Given the description of an element on the screen output the (x, y) to click on. 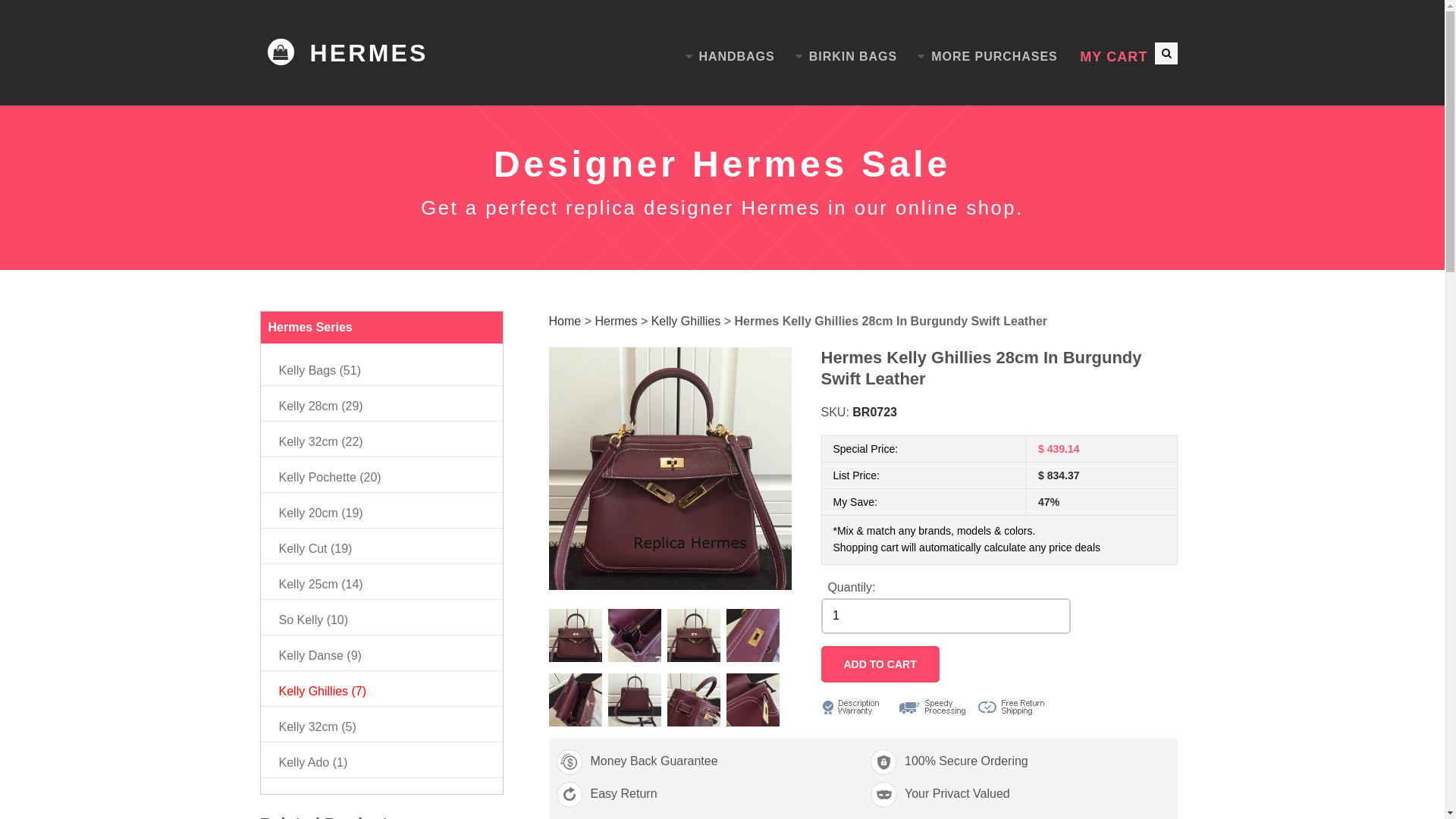
Kelly 25cm (14) Element type: text (321, 583)
ADD TO CART Element type: text (879, 664)
Kelly 20cm (19) Element type: text (321, 512)
So Kelly (10) Element type: text (313, 619)
Kelly Ado (1) Element type: text (313, 762)
Search Element type: text (1153, 50)
Kelly Ghillies (7) Element type: text (323, 690)
Kelly 28cm (29) Element type: text (321, 405)
Home Element type: text (565, 320)
Kelly Pochette (20) Element type: text (330, 476)
Kelly Ghillies Element type: text (686, 320)
Hermes Element type: text (615, 320)
HANDBAGS Element type: text (730, 56)
MY CART Element type: text (1113, 57)
BIRKIN BAGS Element type: text (846, 56)
Kelly 32cm (22) Element type: text (321, 441)
Kelly Danse (9) Element type: text (320, 655)
Kelly Cut (19) Element type: text (315, 548)
HERMES Element type: text (346, 52)
Kelly 32cm (5) Element type: text (317, 726)
Kelly Bags (51) Element type: text (320, 370)
MORE PURCHASES Element type: text (987, 56)
